Given the description of an element on the screen output the (x, y) to click on. 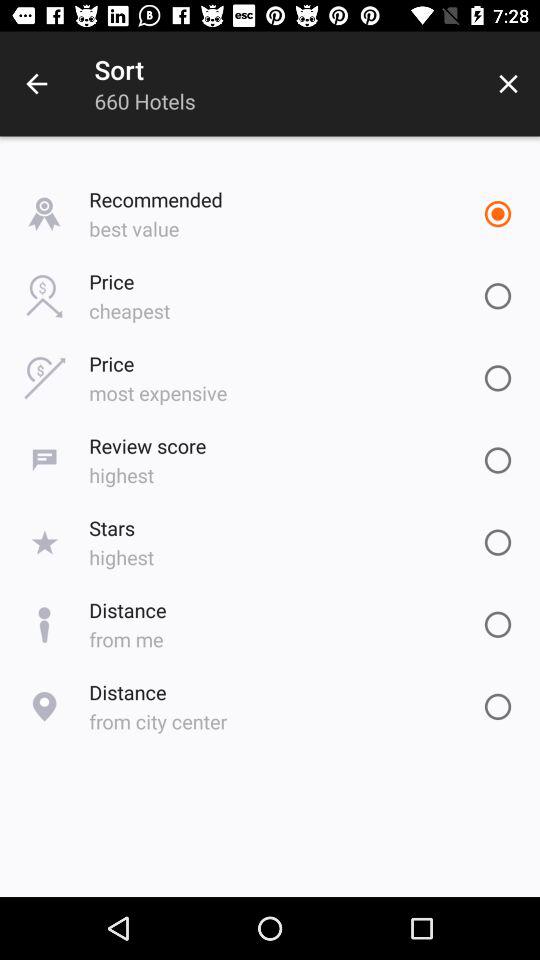
select the icon above recommended (508, 83)
